Given the description of an element on the screen output the (x, y) to click on. 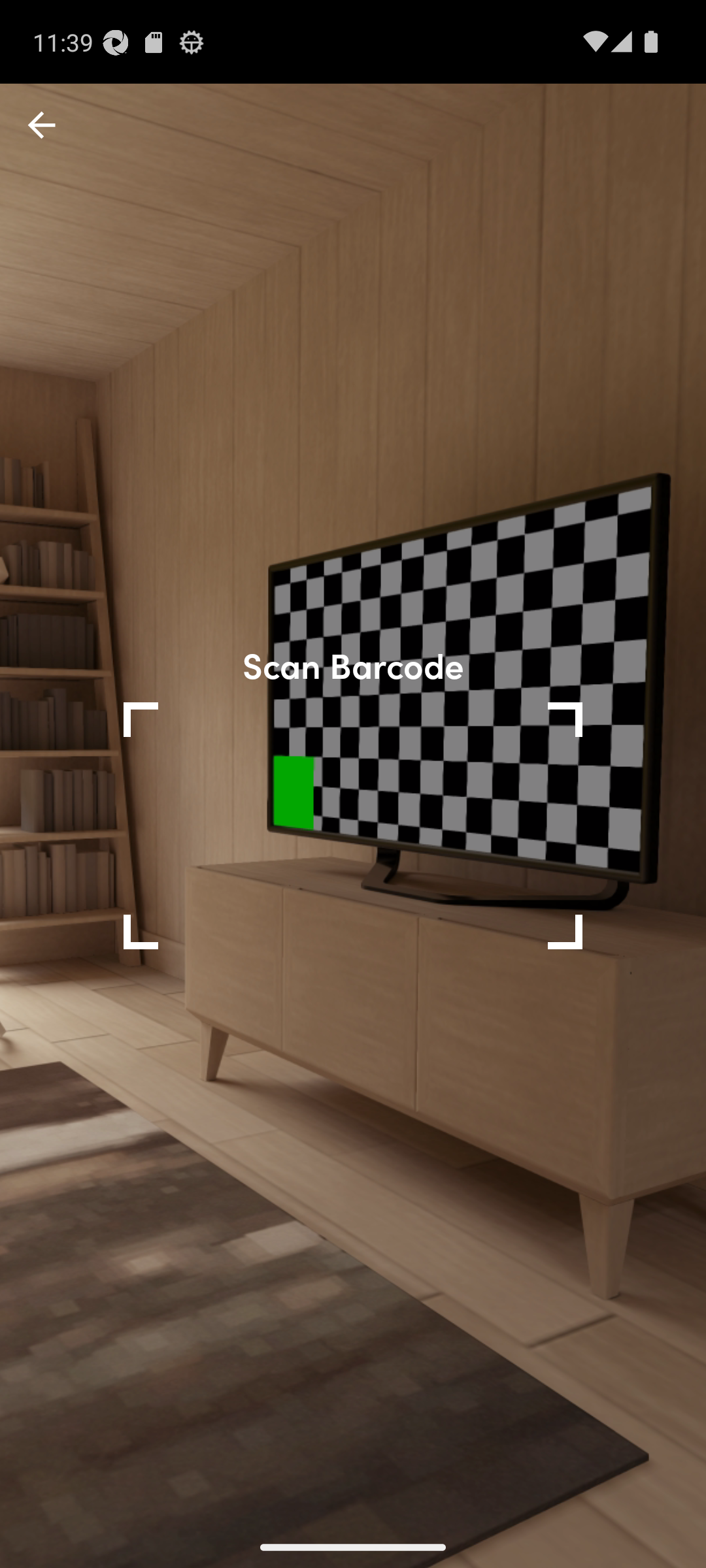
top_left_action (41, 125)
